Given the description of an element on the screen output the (x, y) to click on. 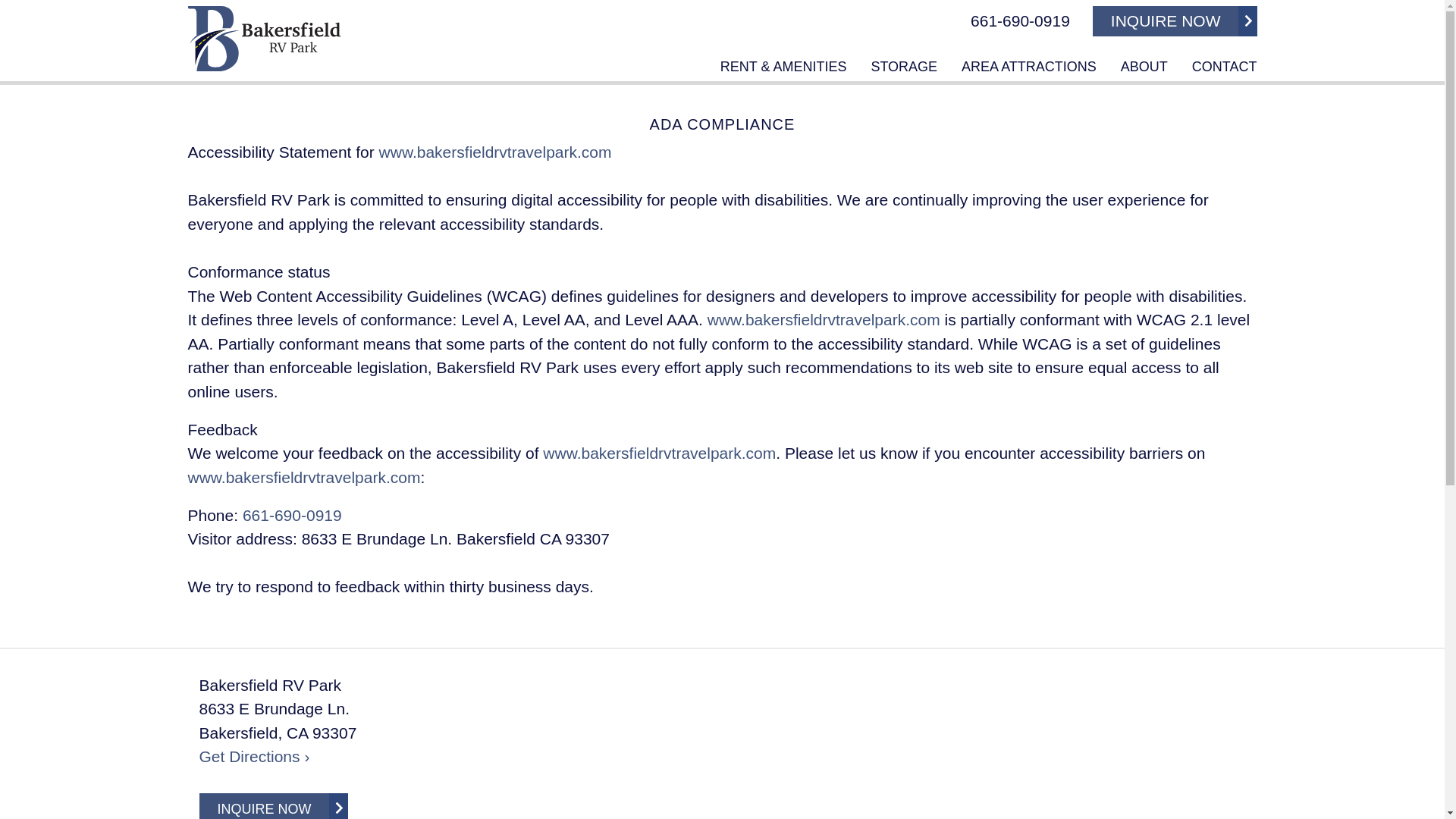
Bakersfield RV Park Google Map (878, 746)
www.bakersfieldrvtravelpark.com (659, 452)
INQUIRE NOW (1175, 20)
661-690-0919 (1020, 21)
www.bakersfieldrvtravelpark.com (823, 319)
AREA ATTRACTIONS (1028, 66)
ABOUT (1144, 66)
CONTACT (1224, 66)
661-690-0919 (292, 515)
www.bakersfieldrvtravelpark.com (494, 151)
